Given the description of an element on the screen output the (x, y) to click on. 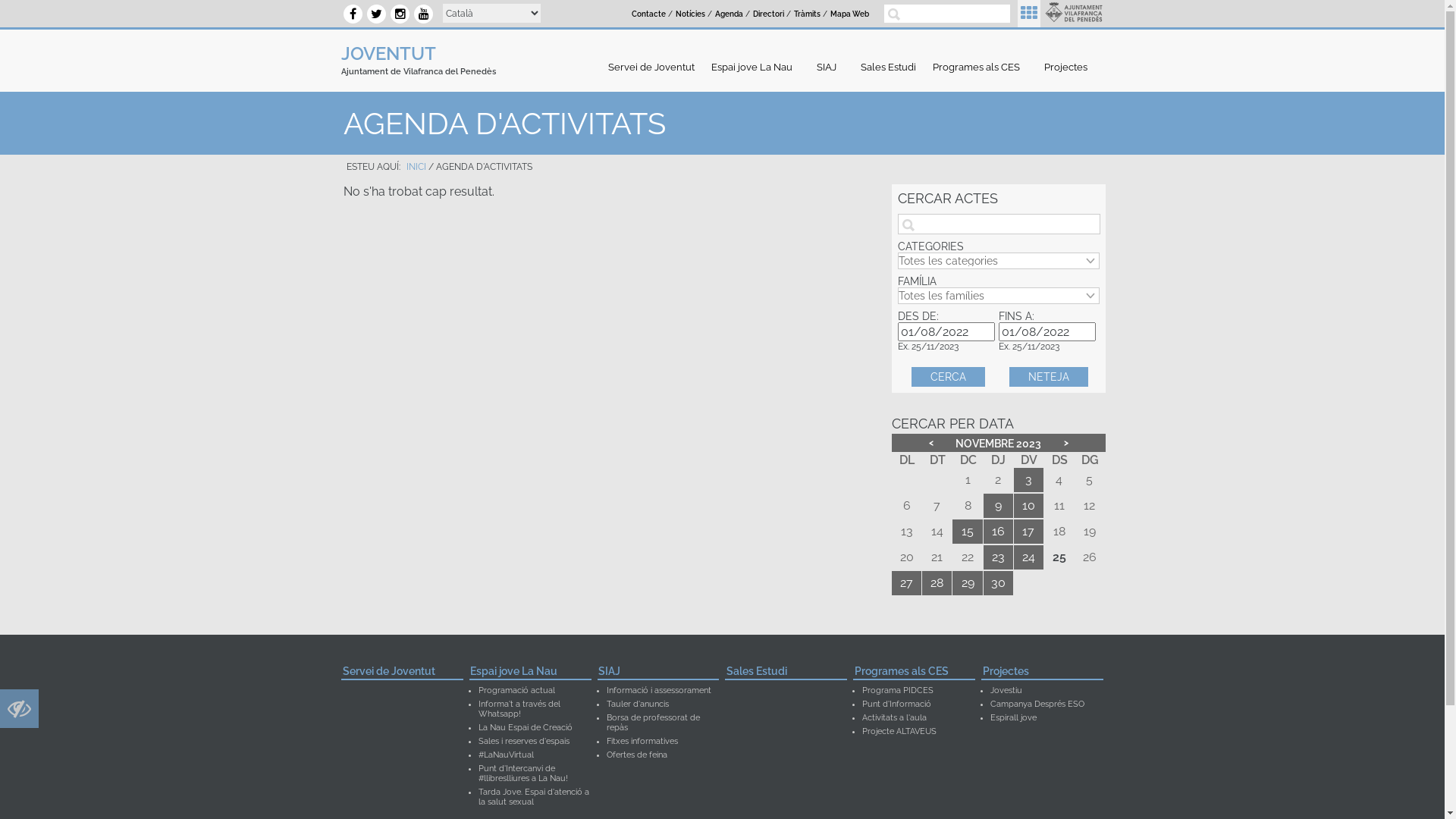
Servei de Joventut Element type: text (402, 672)
Projectes Element type: text (1042, 672)
16 Element type: text (998, 531)
9 Element type: text (998, 505)
Contacte Element type: text (648, 14)
Programes als CES Element type: text (979, 66)
Servei de Joventut Element type: text (651, 66)
Espirall jove Element type: text (1013, 717)
29 Element type: text (967, 583)
Sales Estudi Element type: text (887, 66)
INICI Element type: text (416, 166)
10 Element type: text (1028, 505)
Tauler d'anuncis Element type: text (637, 704)
28 Element type: text (936, 583)
Agenda Element type: text (729, 14)
30 Element type: text (998, 583)
Punt d'Intercanvi de #llibreslliures a La Nau! Element type: text (522, 773)
SIAJ Element type: text (658, 672)
Mapa Web Element type: text (849, 14)
15 Element type: text (967, 531)
#LaNauVirtual Element type: text (505, 754)
> Element type: text (1066, 442)
Programa PIDCES Element type: text (897, 690)
Projecte ALTAVEUS Element type: text (899, 731)
Sales i reserves d'espais Element type: text (523, 741)
JOVENTUT Element type: text (388, 53)
3 Element type: text (1028, 479)
Fitxes informatives Element type: text (641, 741)
Espai jove La Nau Element type: text (530, 672)
17 Element type: text (1028, 531)
Programes als CES Element type: text (914, 672)
Neteja Element type: text (1048, 376)
Activitats a l'aula Element type: text (894, 717)
Accessibilitat Element type: hover (19, 712)
SIAJ Element type: text (829, 66)
Projectes Element type: text (1069, 66)
Directori Element type: text (768, 14)
< Element type: text (931, 442)
24 Element type: text (1028, 557)
27 Element type: text (906, 583)
Jovestiu Element type: text (1006, 690)
Ofertes de feina Element type: text (636, 754)
23 Element type: text (998, 557)
Espai jove La Nau Element type: text (755, 66)
Cerca Element type: text (948, 376)
Sales Estudi Element type: text (785, 672)
